Given the description of an element on the screen output the (x, y) to click on. 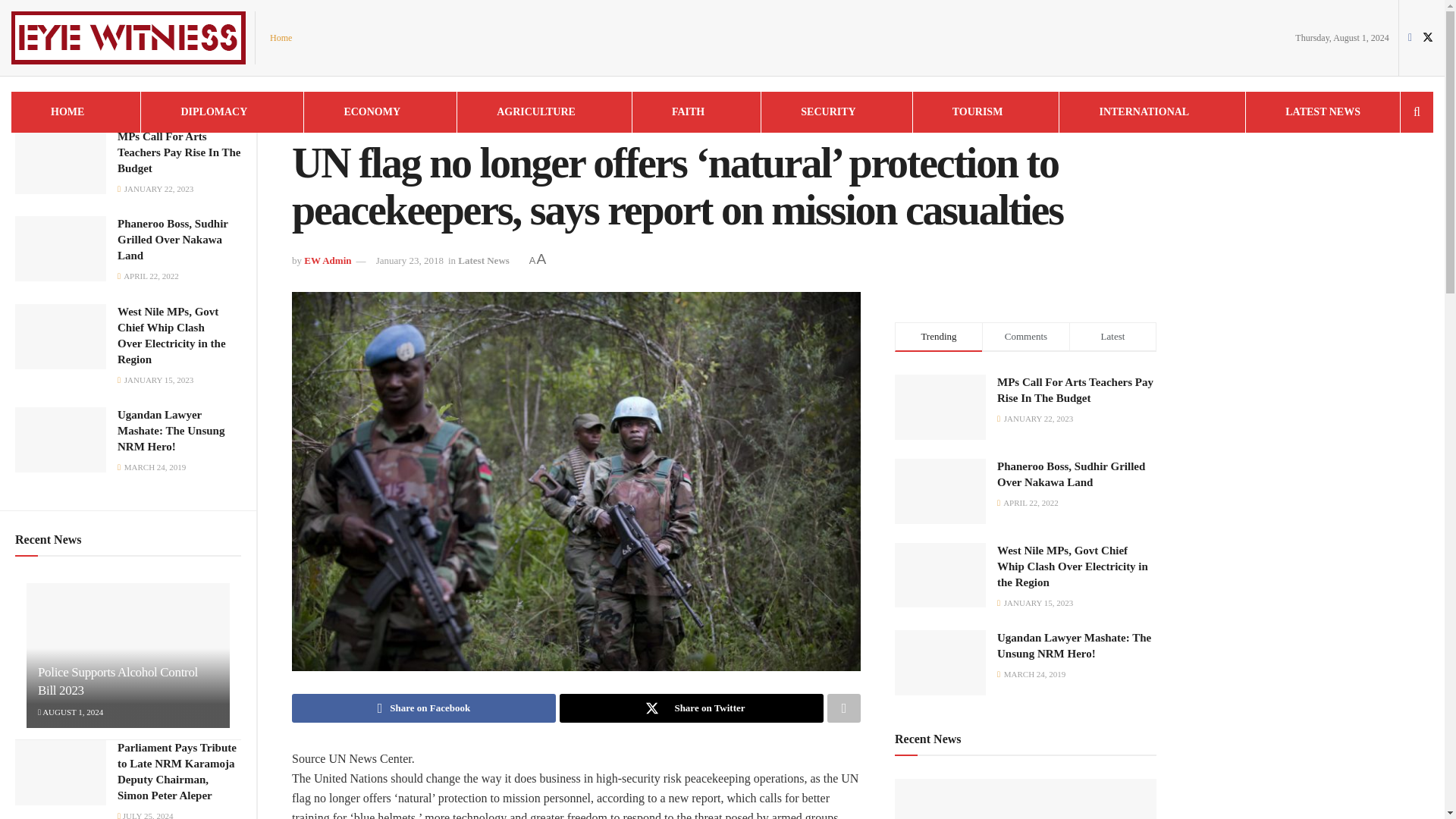
Phaneroo Boss, Sudhir Grilled Over Nakawa Land (172, 239)
JULY 25, 2024 (145, 815)
Police Supports Alcohol Control Bill 2023 (117, 681)
AUGUST 1, 2024 (70, 711)
Ugandan Lawyer Mashate: The Unsung NRM Hero! (170, 430)
MPs Call For Arts Teachers Pay Rise In The Budget (179, 152)
